Given the description of an element on the screen output the (x, y) to click on. 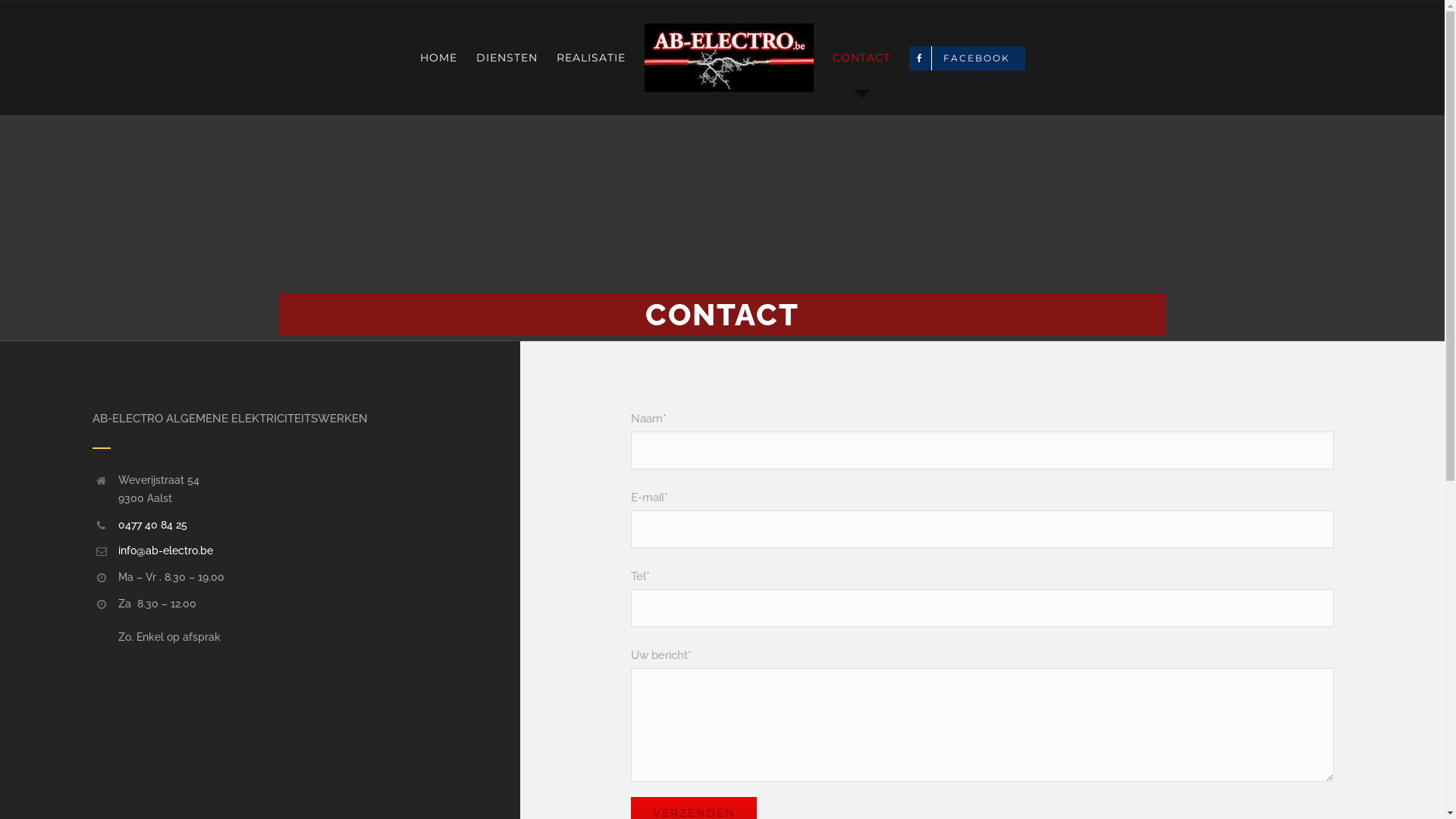
CONTACT Element type: text (861, 57)
HOME Element type: text (438, 57)
0477 40 84 25 Element type: text (152, 524)
FACEBOOK Element type: text (966, 57)
REALISATIE Element type: text (590, 57)
info@ab-electro.be Element type: text (165, 550)
DIENSTEN Element type: text (506, 57)
